Given the description of an element on the screen output the (x, y) to click on. 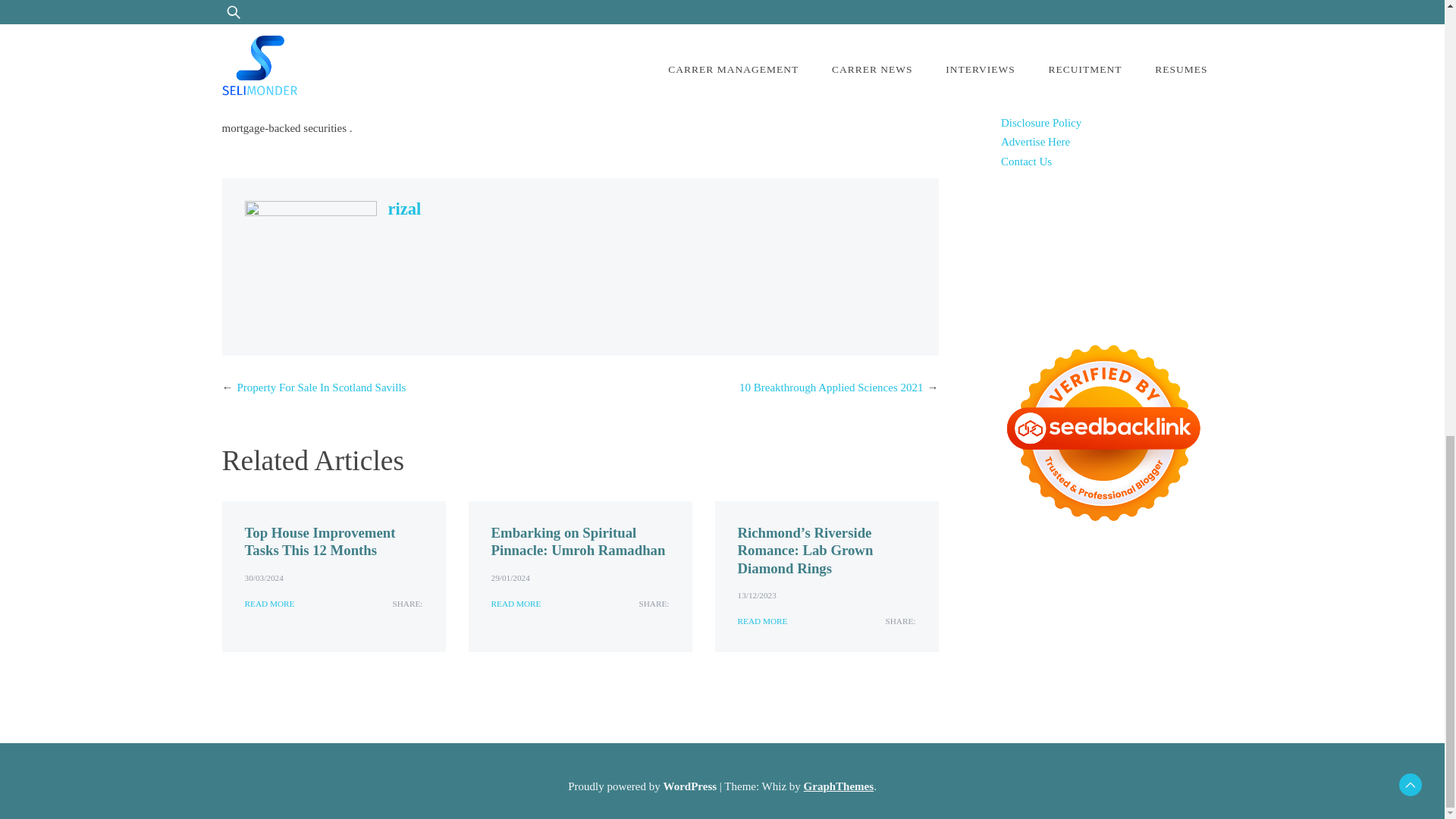
Seedbacklink (1103, 432)
READ MORE (761, 621)
rizal (405, 208)
READ MORE (516, 603)
10 Breakthrough Applied Sciences 2021 (831, 387)
Top House Improvement Tasks This 12 Months (319, 540)
READ MORE (269, 603)
Property For Sale In Scotland Savills (320, 387)
Embarking on Spiritual Pinnacle: Umroh Ramadhan (578, 540)
